Given the description of an element on the screen output the (x, y) to click on. 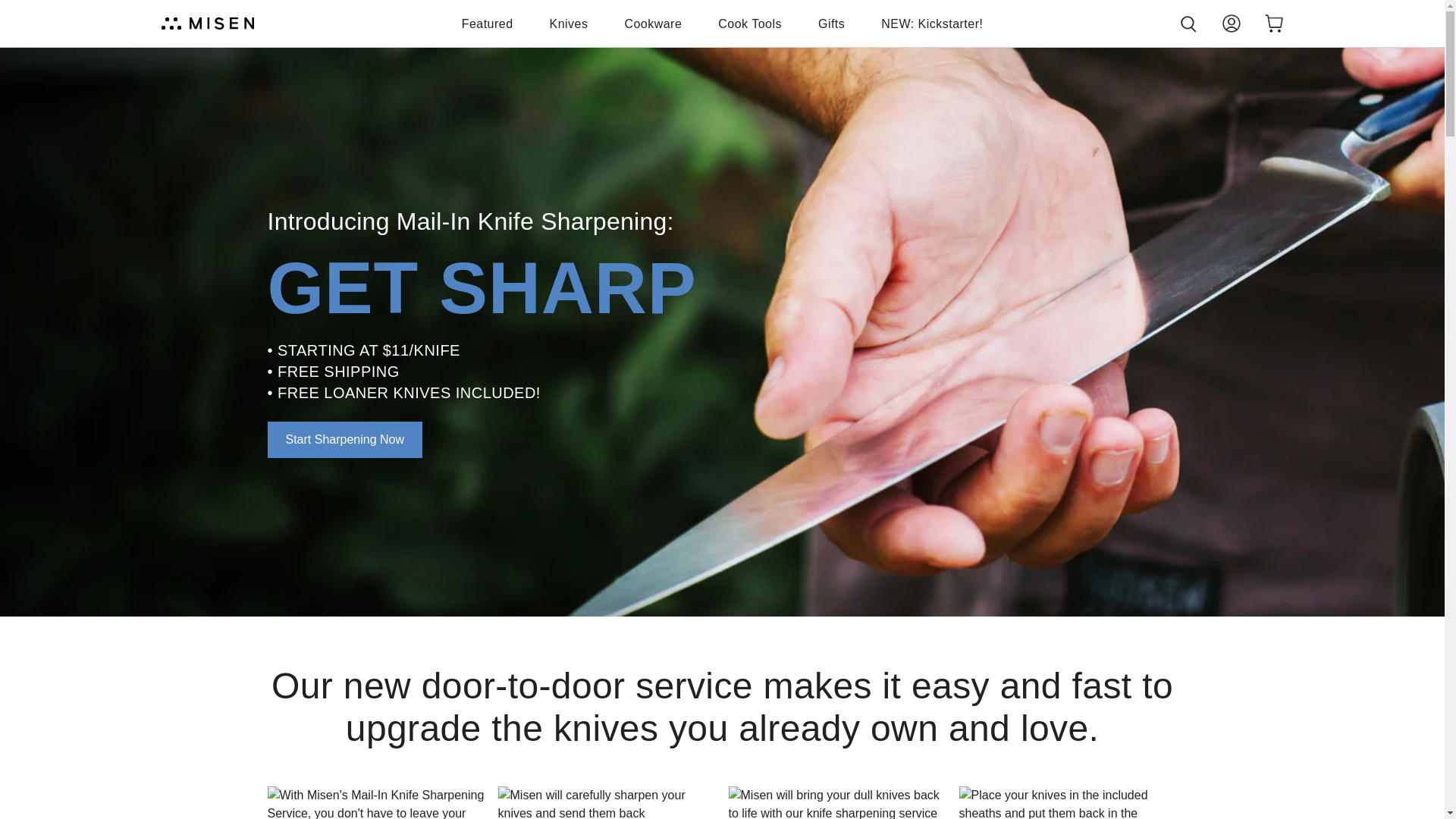
Gifts (831, 24)
Featured (487, 24)
Knives (569, 24)
Cook Tools (749, 24)
NEW: Kickstarter! (931, 24)
Cookware (652, 24)
Skip to content (17, 8)
